Given the description of an element on the screen output the (x, y) to click on. 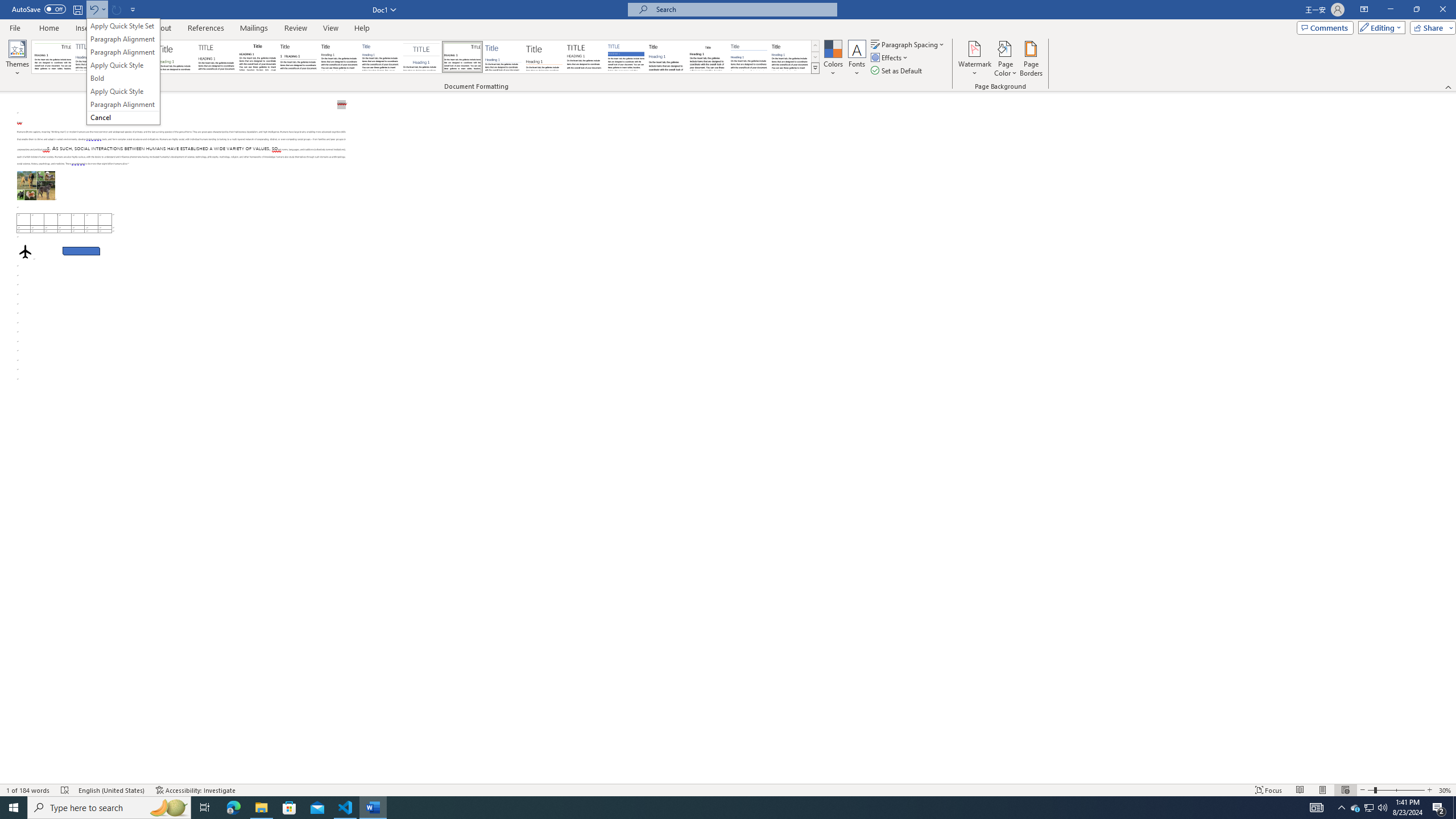
Word 2003 (707, 56)
Word Count 1 of 184 words (28, 790)
Colors (832, 58)
Undo Apply Quick Style Set (96, 9)
Effects (890, 56)
Word (666, 56)
